Given the description of an element on the screen output the (x, y) to click on. 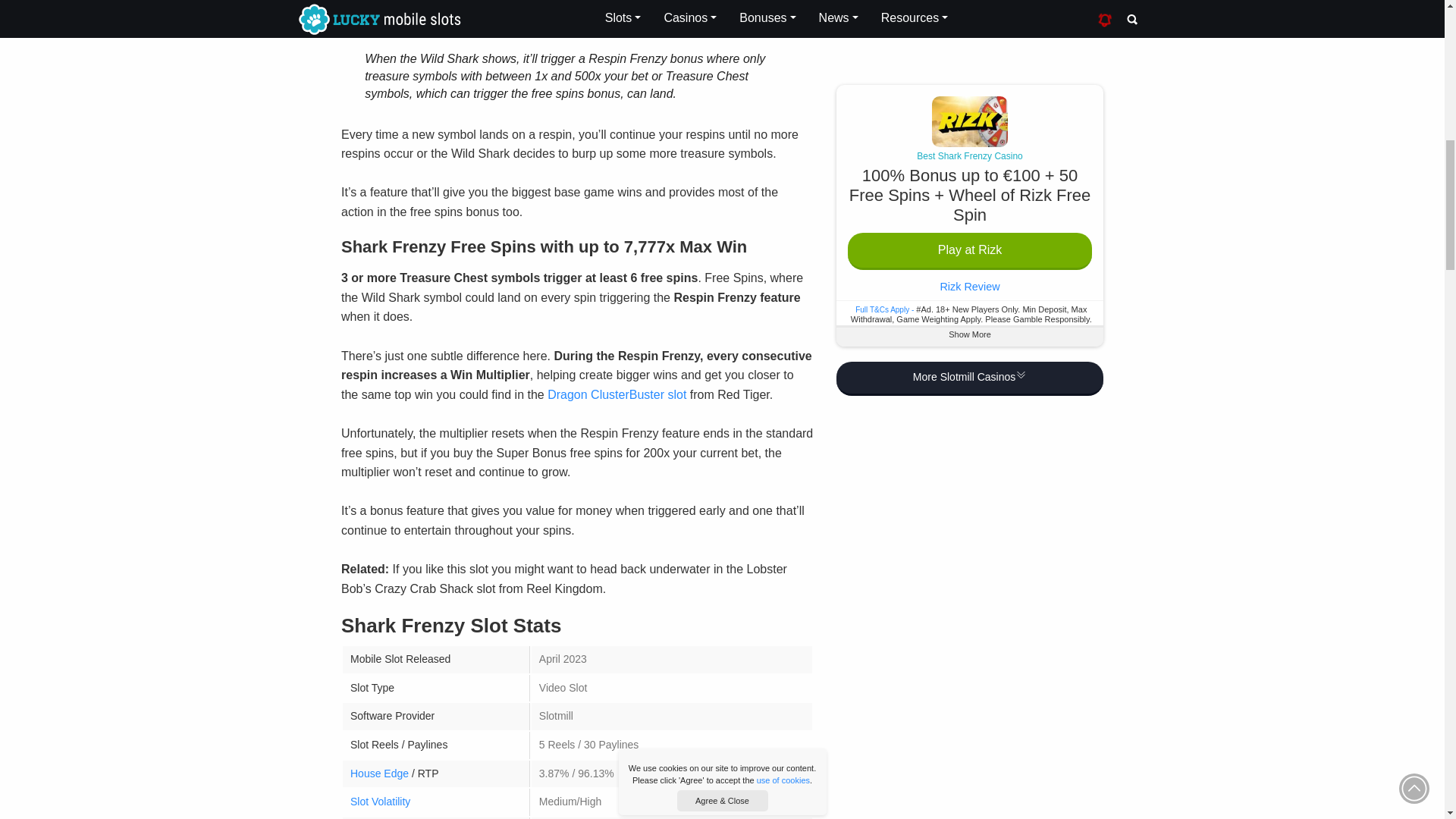
Learn about slot volatility and variance (380, 801)
More Slotmill Casinos (969, 5)
Learn about slots house edge (379, 773)
